Given the description of an element on the screen output the (x, y) to click on. 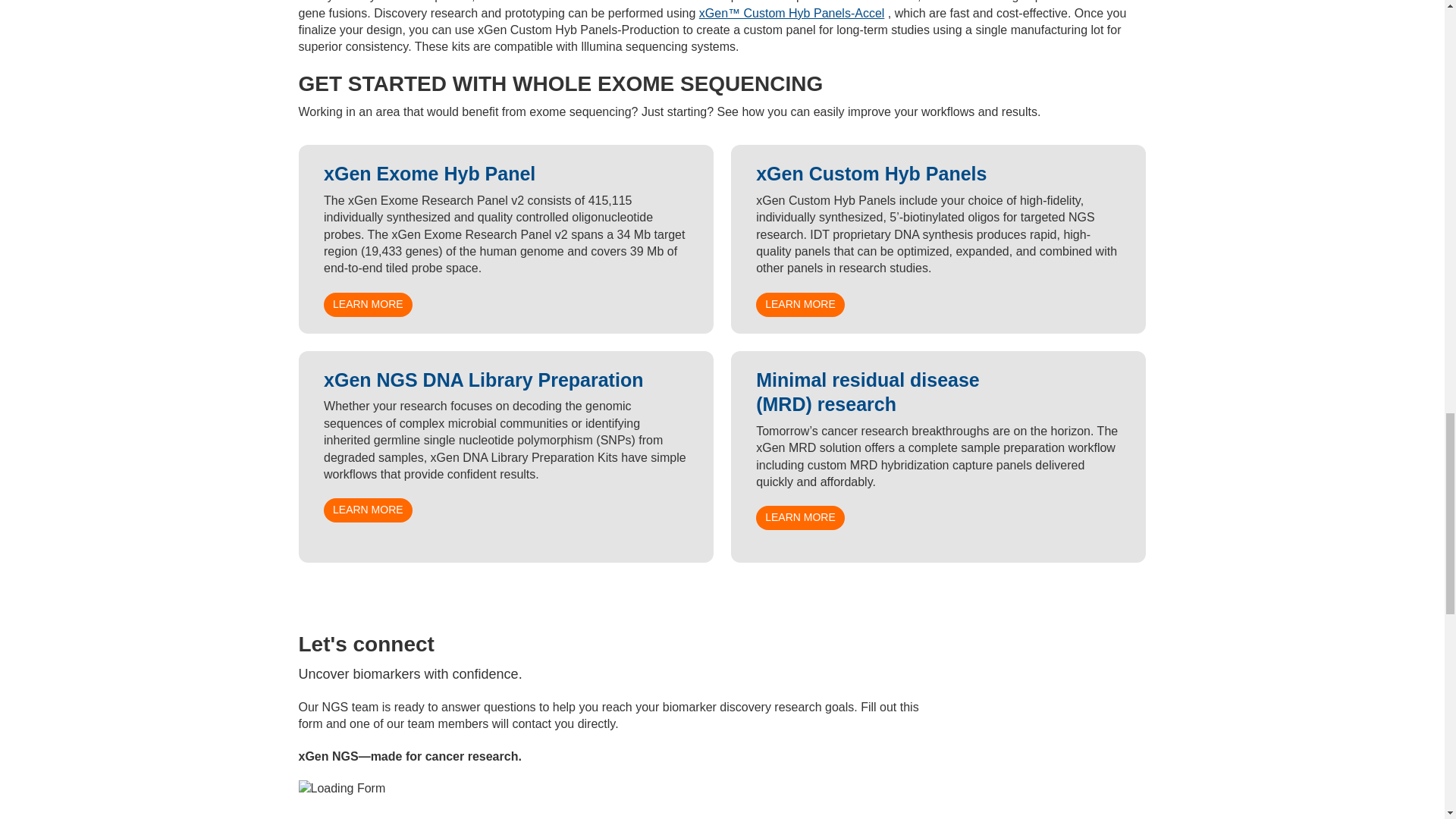
Learn more about the xGen Exome Hyb Panel v2 (367, 304)
